Given the description of an element on the screen output the (x, y) to click on. 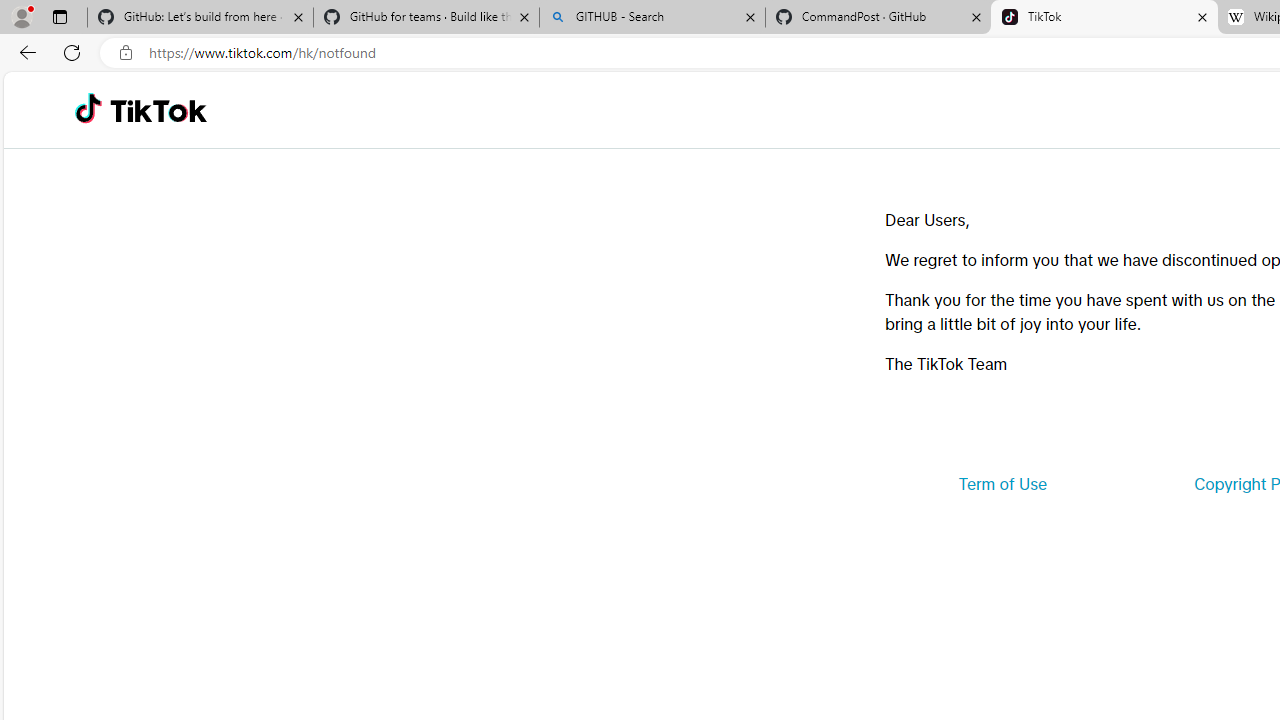
GITHUB - Search (652, 17)
Term of Use (1002, 484)
